Given the description of an element on the screen output the (x, y) to click on. 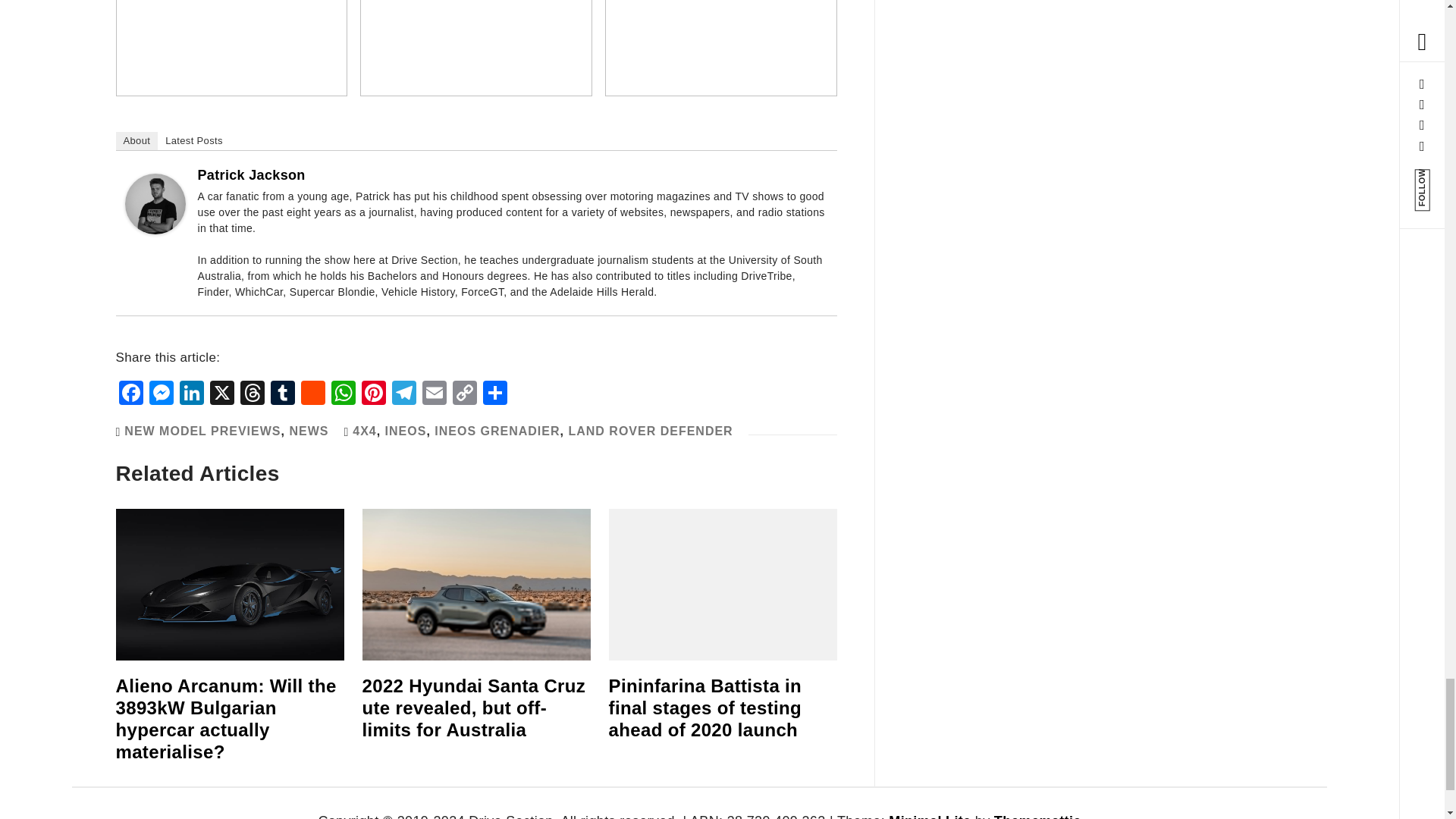
Patrick Jackson (153, 203)
About (136, 140)
Facebook (130, 394)
Patrick Jackson (250, 174)
Reddit (312, 394)
Threads (250, 394)
X (220, 394)
WhatsApp (342, 394)
Tumblr (281, 394)
Pinterest (373, 394)
